Given the description of an element on the screen output the (x, y) to click on. 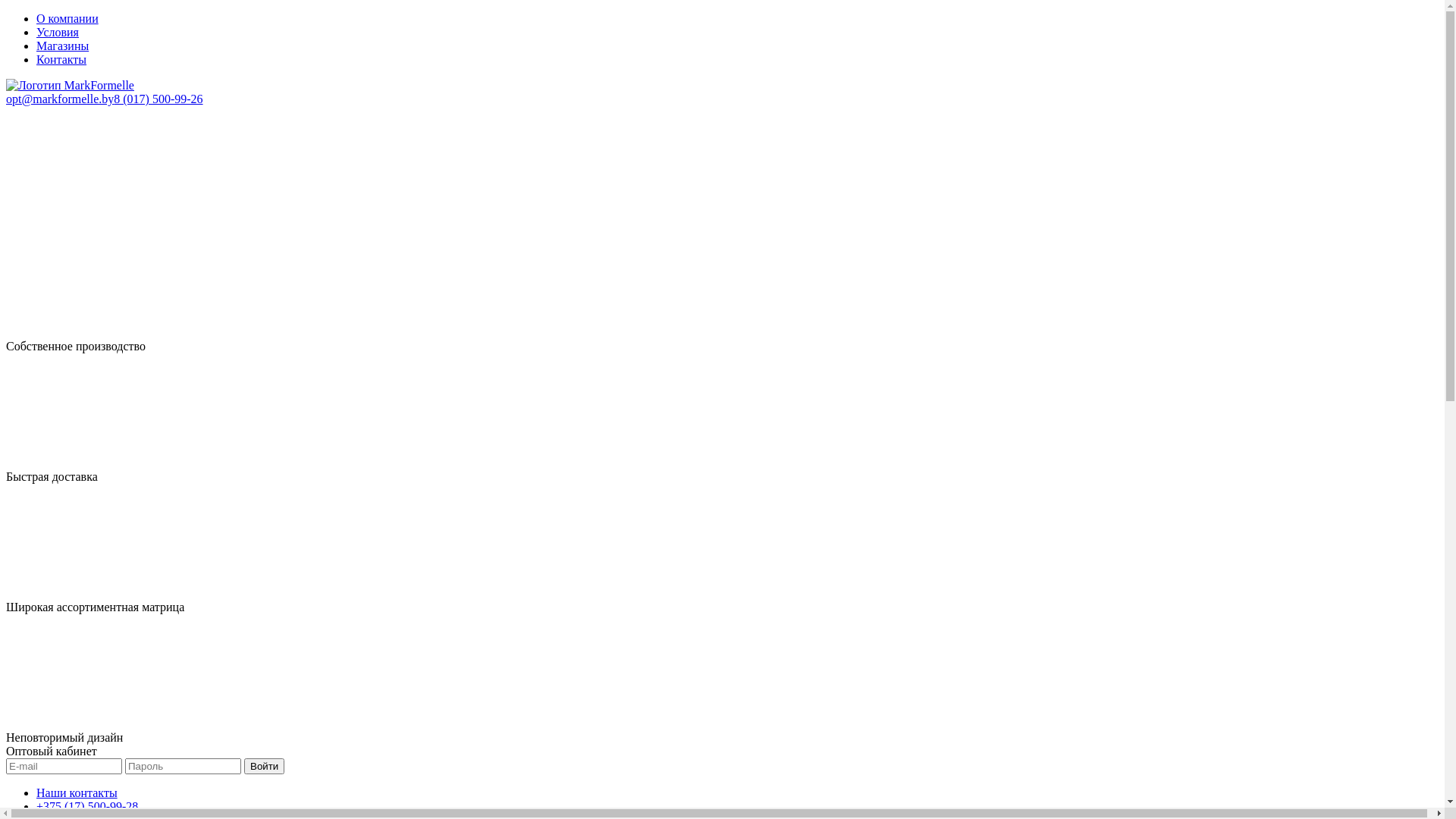
8 (017) 500-99-26 Element type: text (157, 98)
+375 (17) 500-99-28 Element type: text (87, 806)
opt@markformelle.by Element type: text (59, 98)
